Given the description of an element on the screen output the (x, y) to click on. 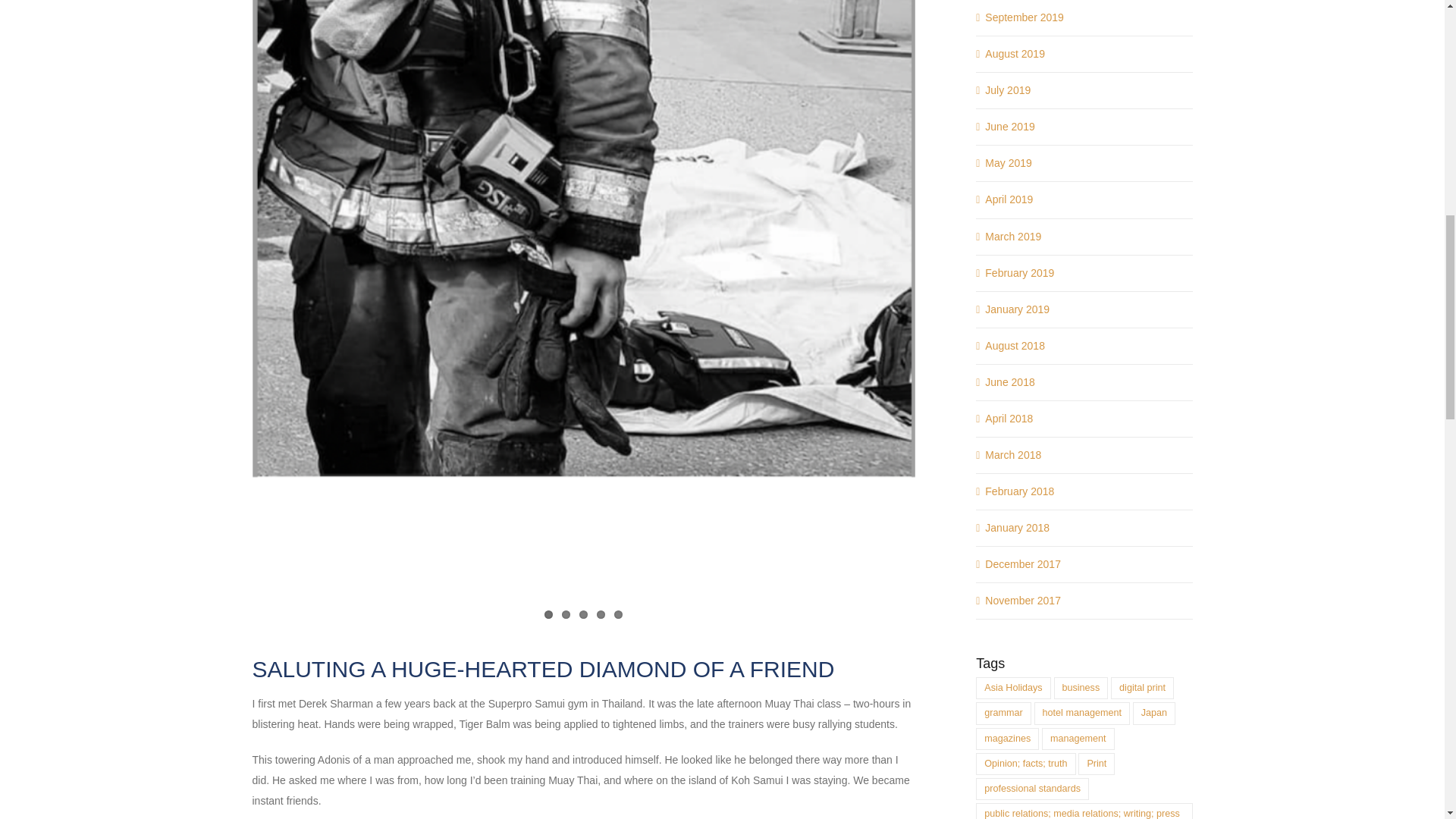
5 (618, 613)
3 (583, 613)
1 (548, 613)
2 (566, 613)
4 (600, 613)
